Given the description of an element on the screen output the (x, y) to click on. 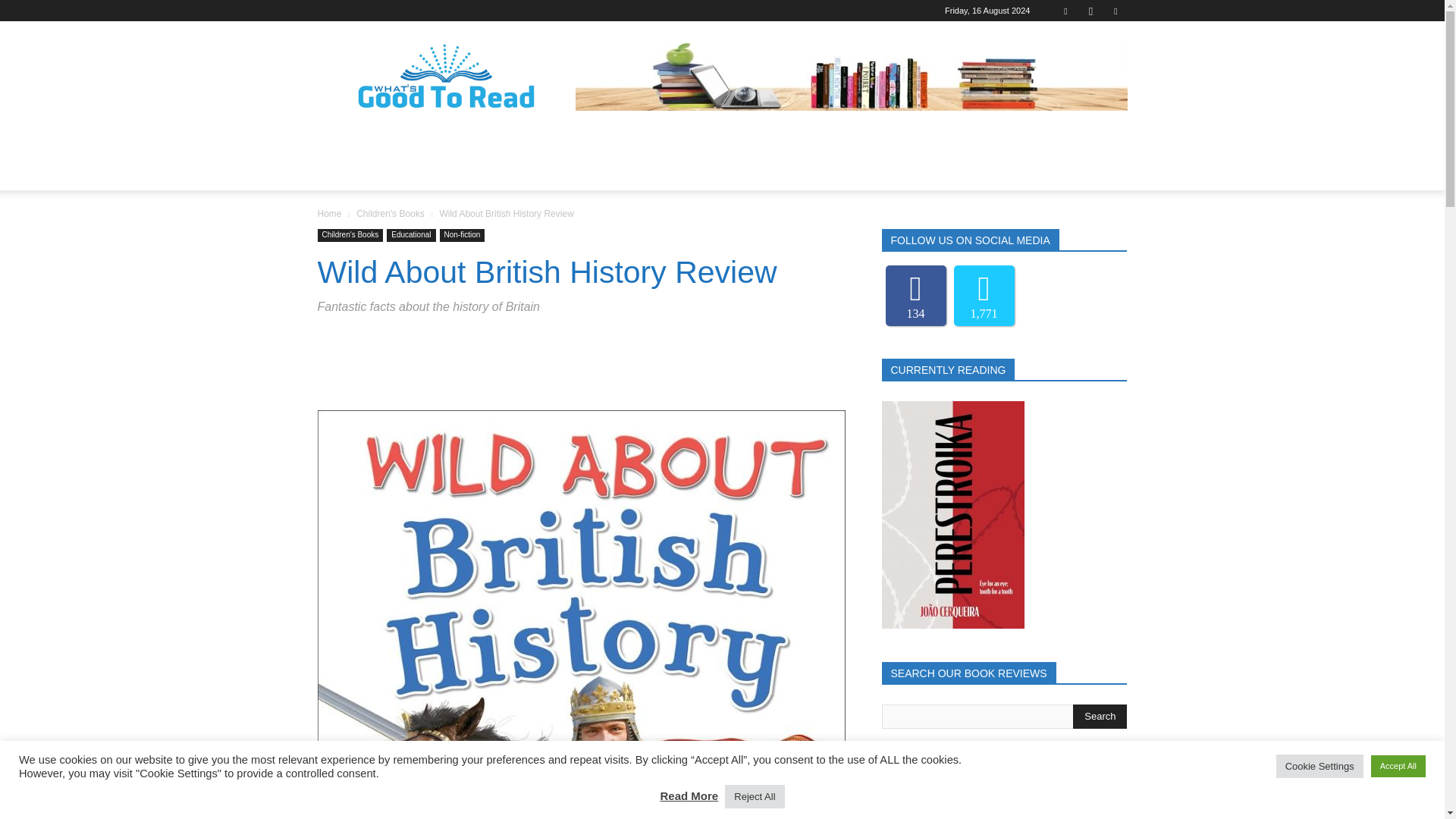
View all posts in Children's Books (390, 213)
Twitter (1114, 10)
Facebook (1065, 10)
Search (1099, 716)
Instagram (1090, 10)
